Given the description of an element on the screen output the (x, y) to click on. 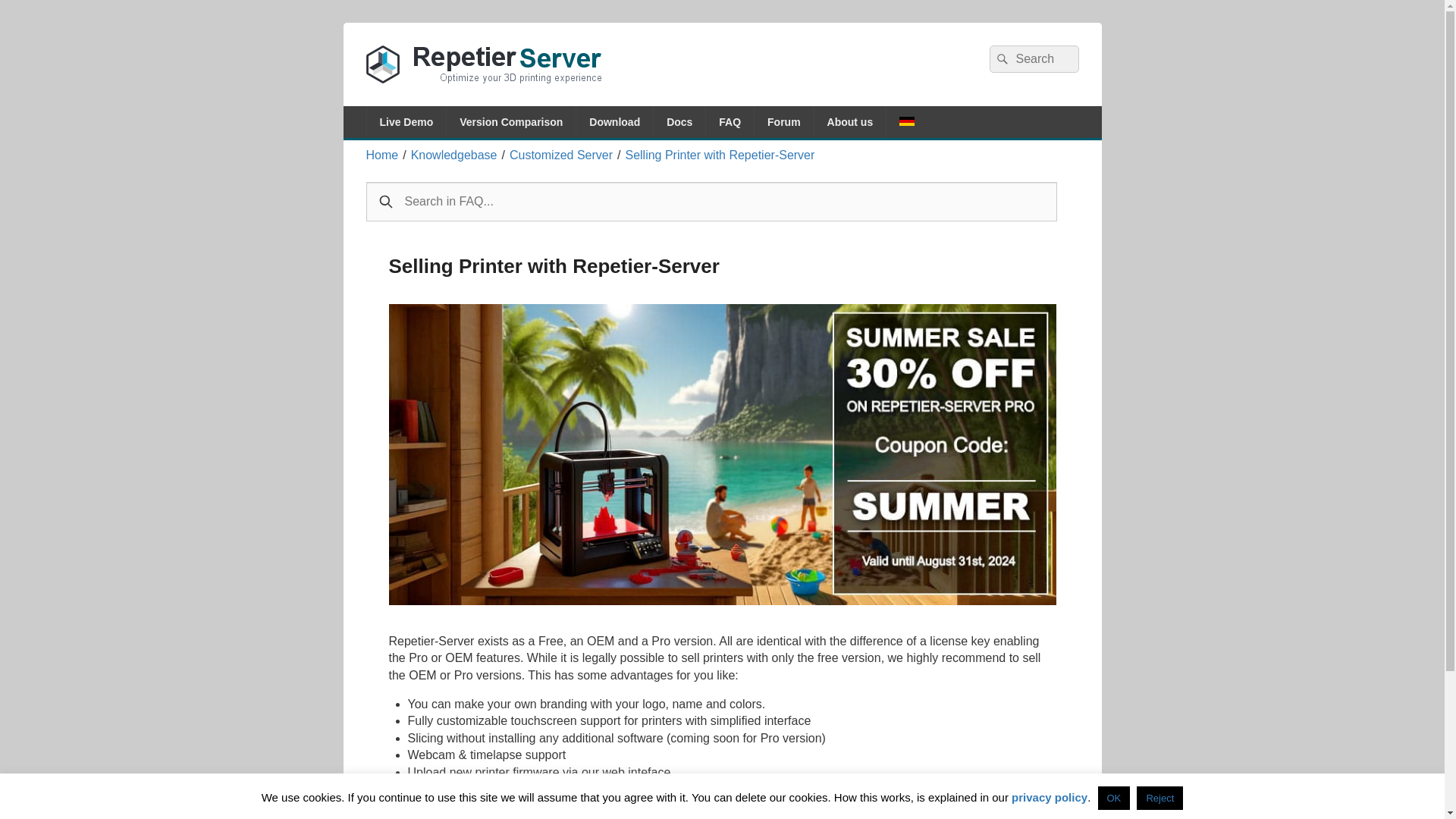
Reject (1159, 797)
FAQ (730, 122)
Version Comparison (510, 122)
Forum (783, 122)
Search for: (1033, 58)
Knowledgebase (453, 154)
Docs (678, 122)
privacy policy (1049, 797)
Selling Printer with Repetier-Server (718, 154)
Download (614, 122)
Repetier-Server (467, 100)
Live Demo (406, 122)
Home (381, 154)
OK (1114, 797)
Customized Server (560, 154)
